Given the description of an element on the screen output the (x, y) to click on. 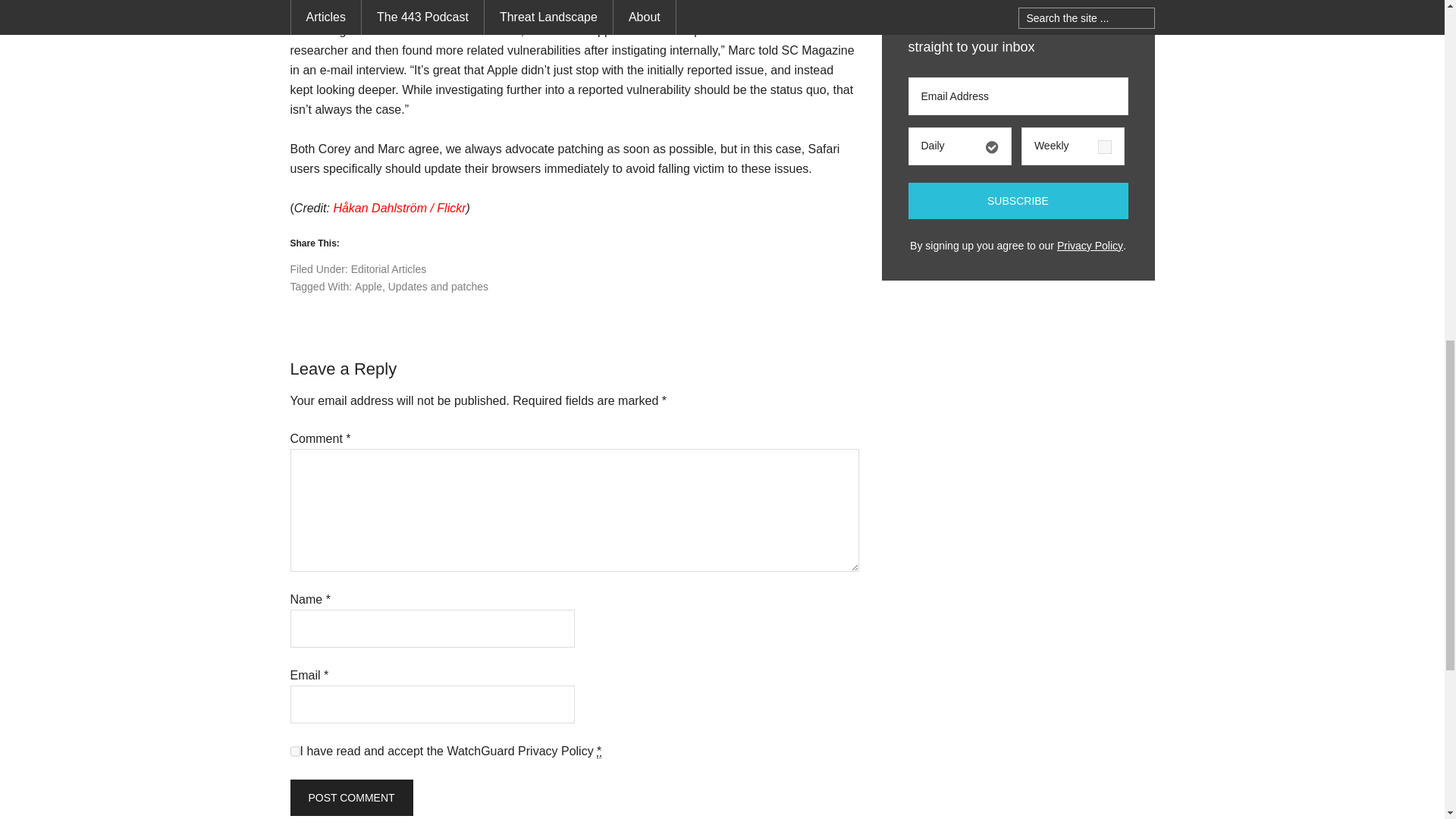
Post Comment (350, 797)
Apple (368, 286)
Privacy Policy (1089, 245)
Editorial Articles (388, 268)
Privacy Policy (556, 750)
Updates and patches (437, 286)
Post Comment (350, 797)
Subscribe (1018, 200)
Subscribe (1018, 200)
